Given the description of an element on the screen output the (x, y) to click on. 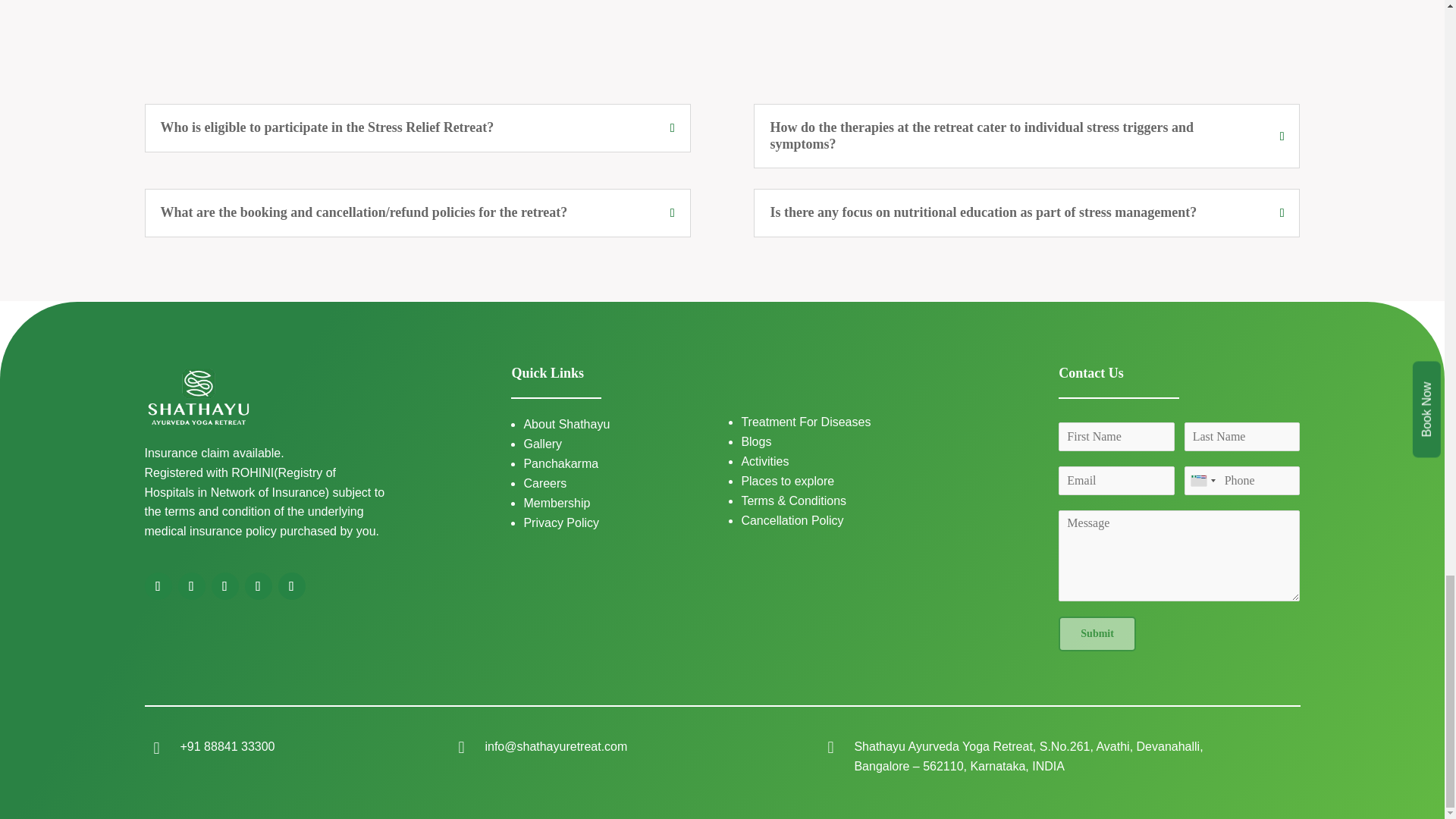
Follow on Instagram (257, 585)
Shathayu-Retreat-Logo (197, 396)
Follow on X (191, 585)
Follow on Facebook (224, 585)
Follow on Youtube (291, 585)
Follow on LinkedIn (157, 585)
